Given the description of an element on the screen output the (x, y) to click on. 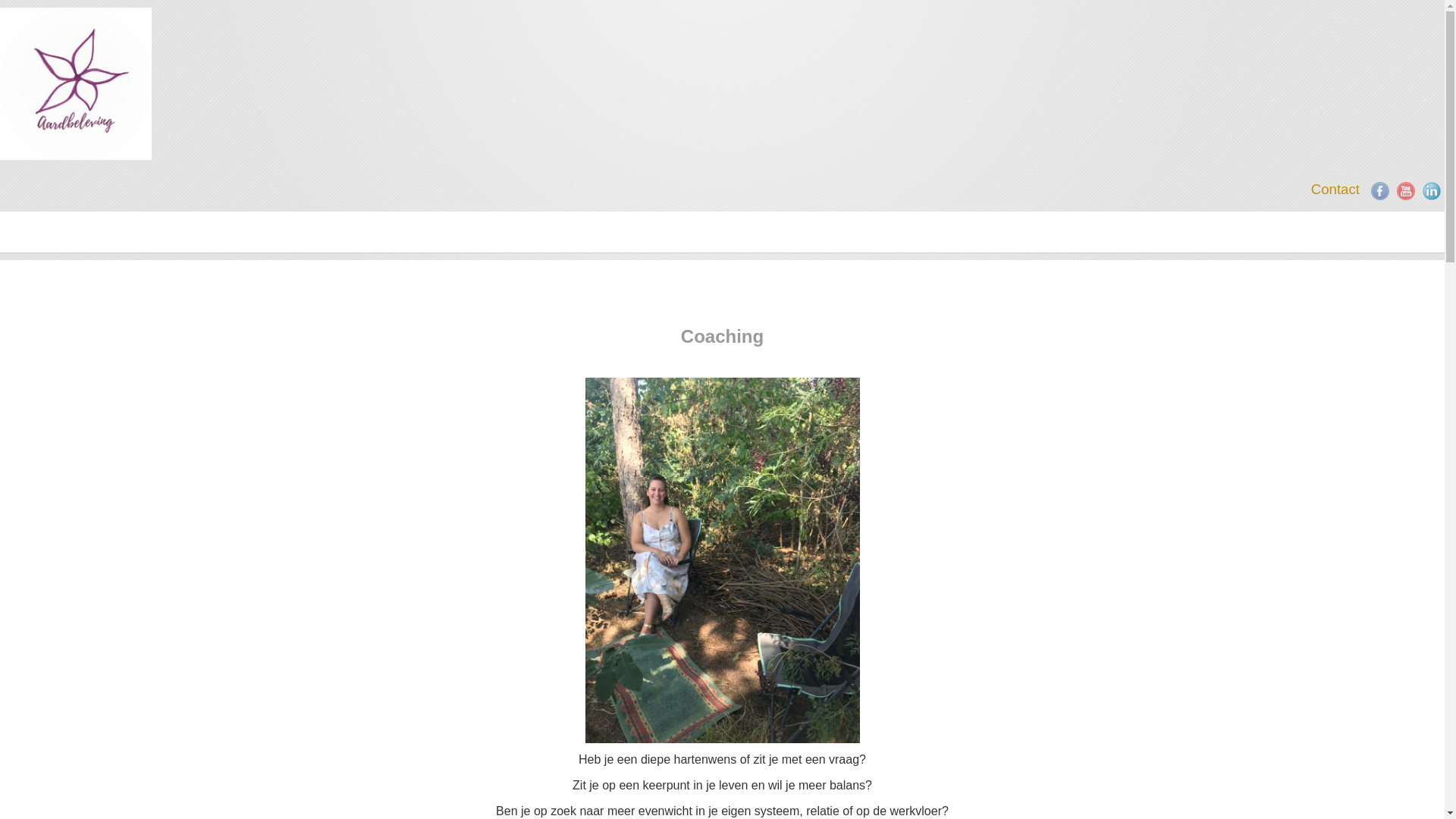
YouTube Element type: text (1405, 191)
Facebook Element type: text (1380, 191)
LinkedIn Element type: text (1431, 191)
.:In kracht floreren:. Element type: hover (75, 83)
Contact Element type: text (1335, 189)
